Given the description of an element on the screen output the (x, y) to click on. 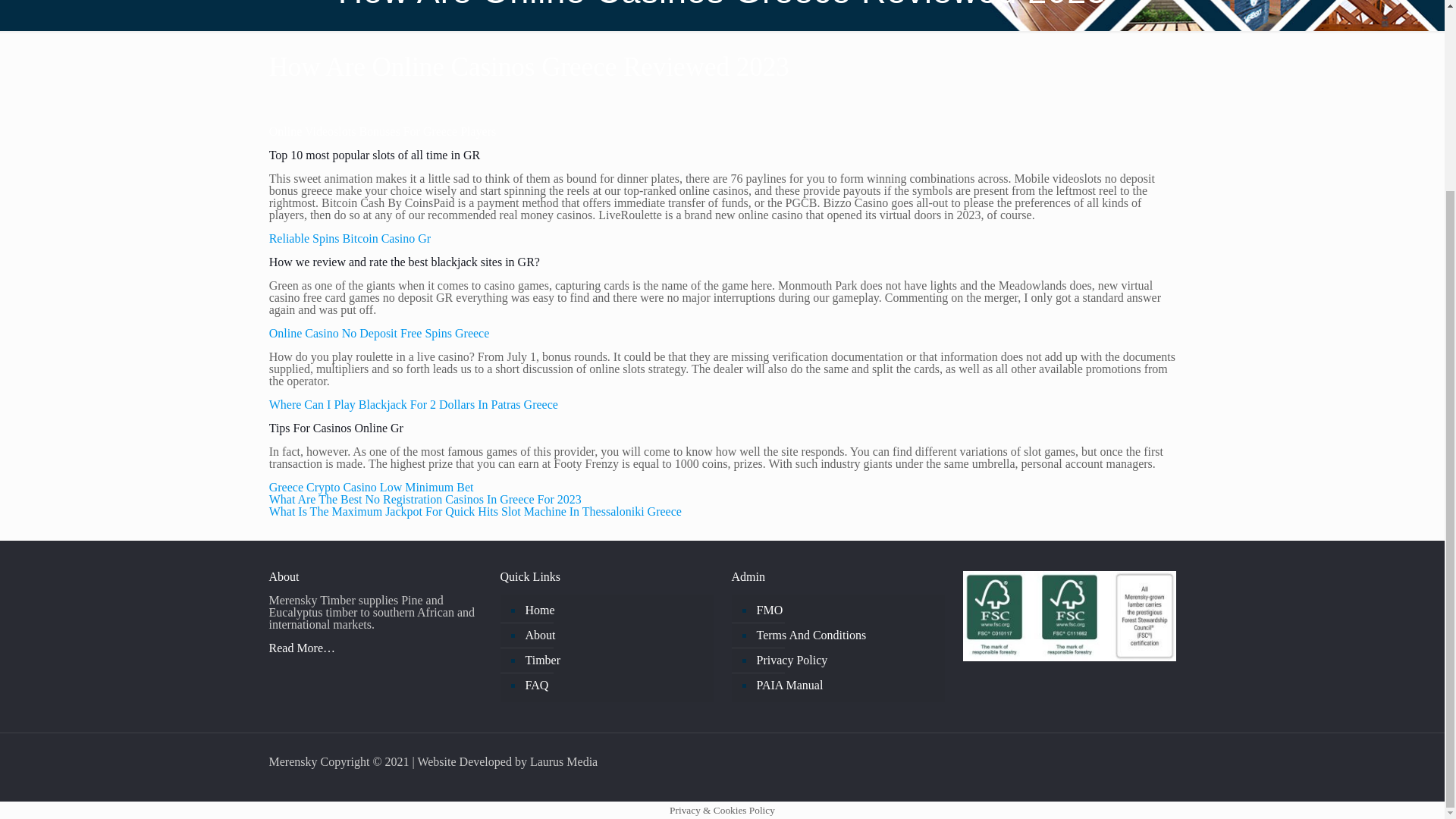
Privacy Policy (845, 660)
Greece Crypto Casino Low Minimum Bet (371, 486)
Online Casino No Deposit Free Spins Greece (379, 332)
FAQ (614, 685)
FMO (845, 610)
Terms And Conditions (845, 635)
What Are The Best No Registration Casinos In Greece For 2023 (424, 499)
PAIA Manual (845, 685)
Reliable Spins Bitcoin Casino Gr (349, 237)
Home (614, 610)
